Given the description of an element on the screen output the (x, y) to click on. 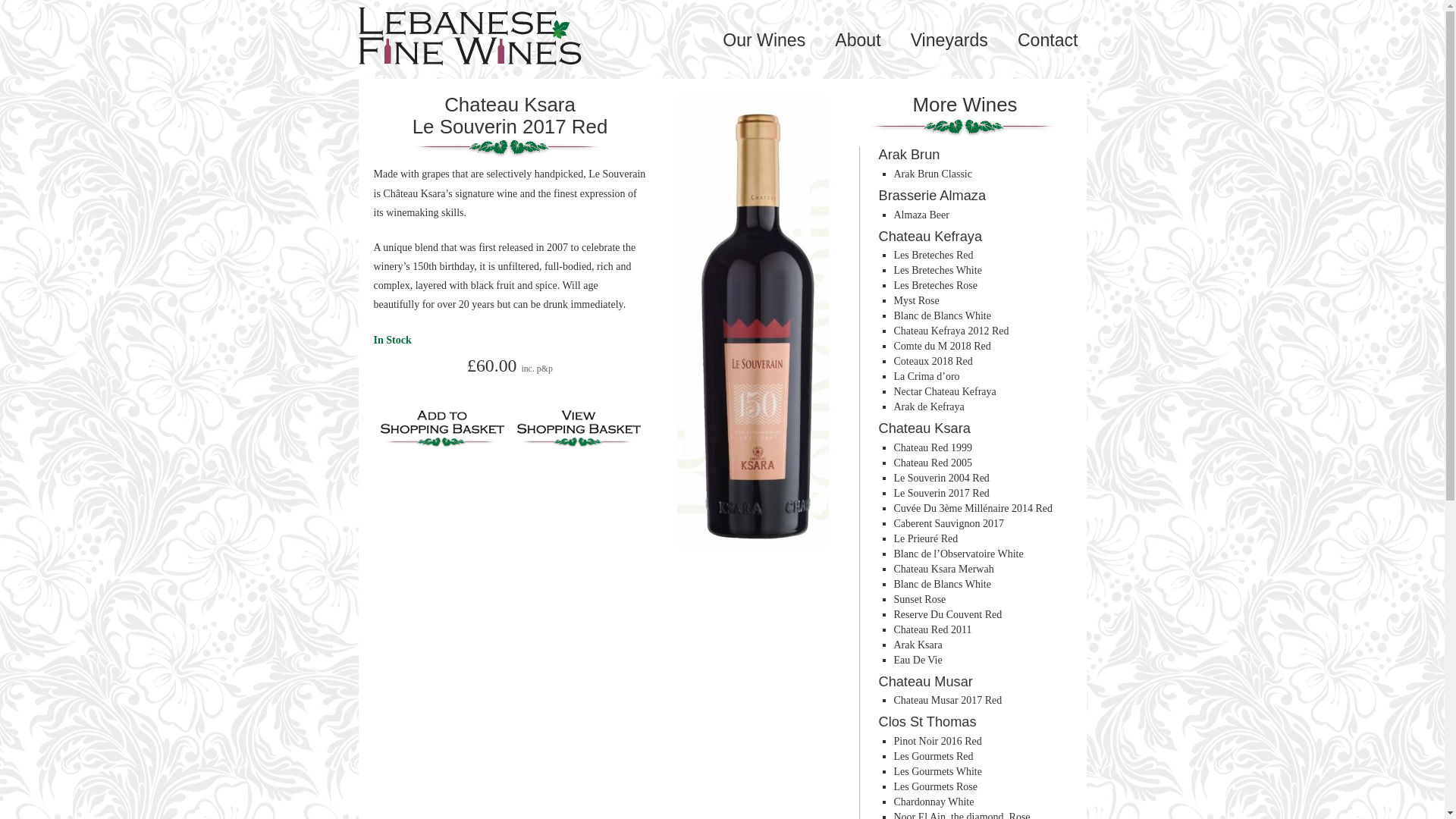
Contact (1047, 39)
Arak de Kefraya (928, 406)
Our Wines (763, 39)
Sunset Rose (918, 599)
Comte du M 2018 Red (941, 346)
Chateau Ksara (509, 104)
Chateau Musar 2017 Red (947, 699)
Caberent Sauvignon 2017 (948, 523)
Le Souverin 2004 Red (940, 478)
Chardonnay White (933, 801)
Reserve Du Couvent Red (947, 614)
Nectar Chateau Kefraya (944, 391)
About (857, 39)
Chateau Kefraya 2012 Red (951, 330)
Chateau Red 2005 (932, 462)
